Given the description of an element on the screen output the (x, y) to click on. 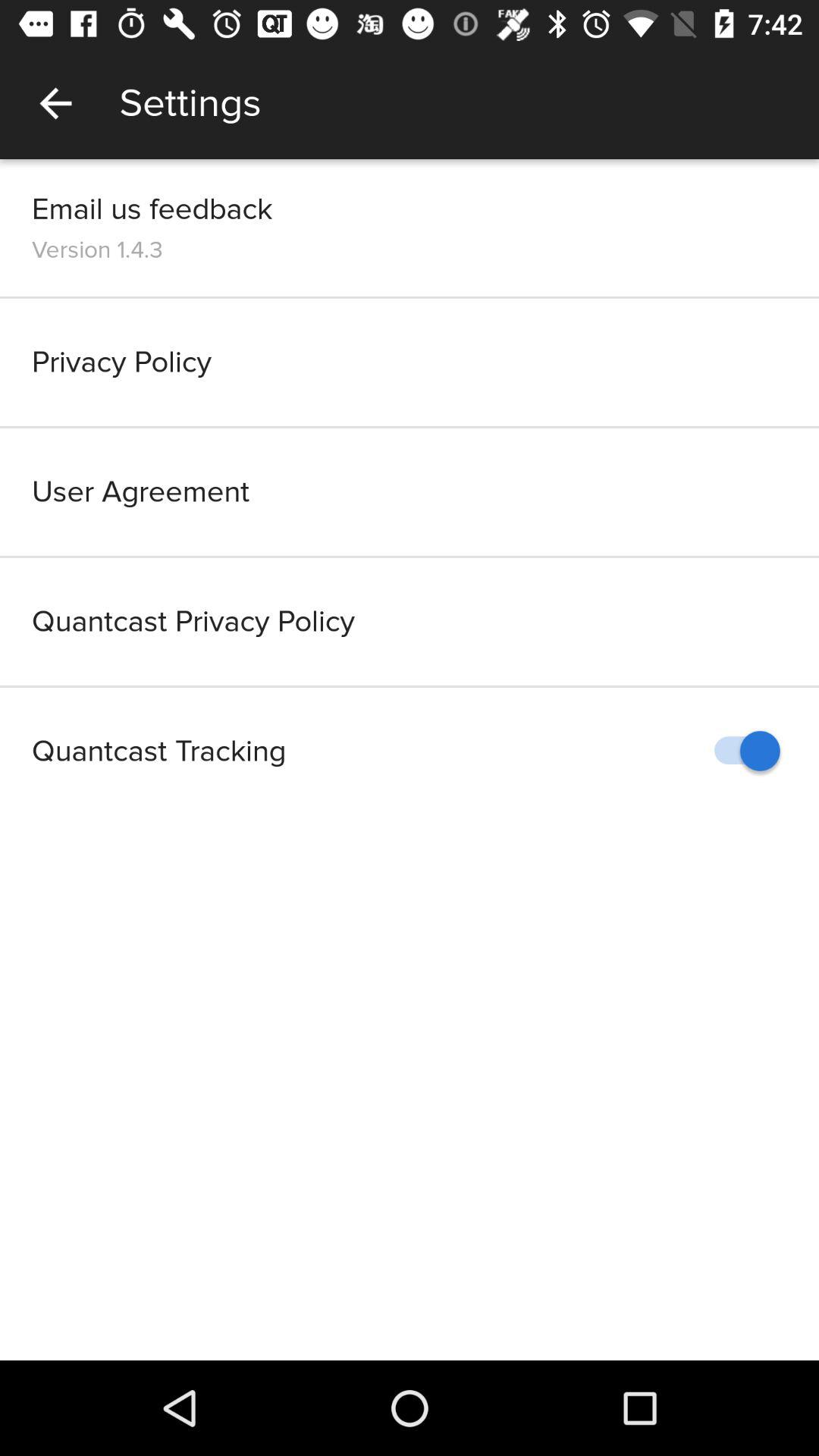
press the email us feedback icon (151, 209)
